Given the description of an element on the screen output the (x, y) to click on. 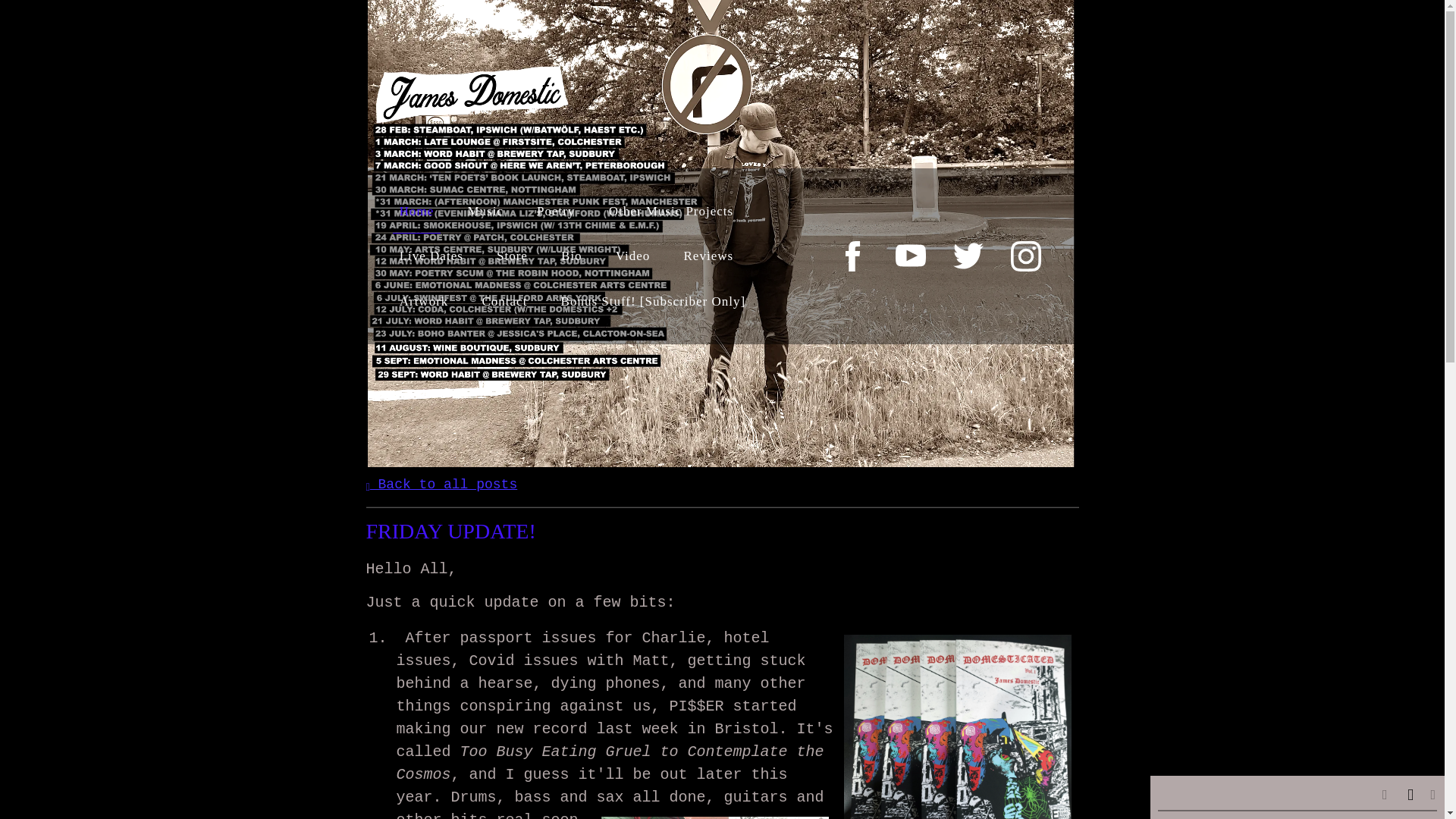
Poetry (555, 211)
Other Music Projects (670, 211)
Music (486, 211)
Home (417, 211)
